Given the description of an element on the screen output the (x, y) to click on. 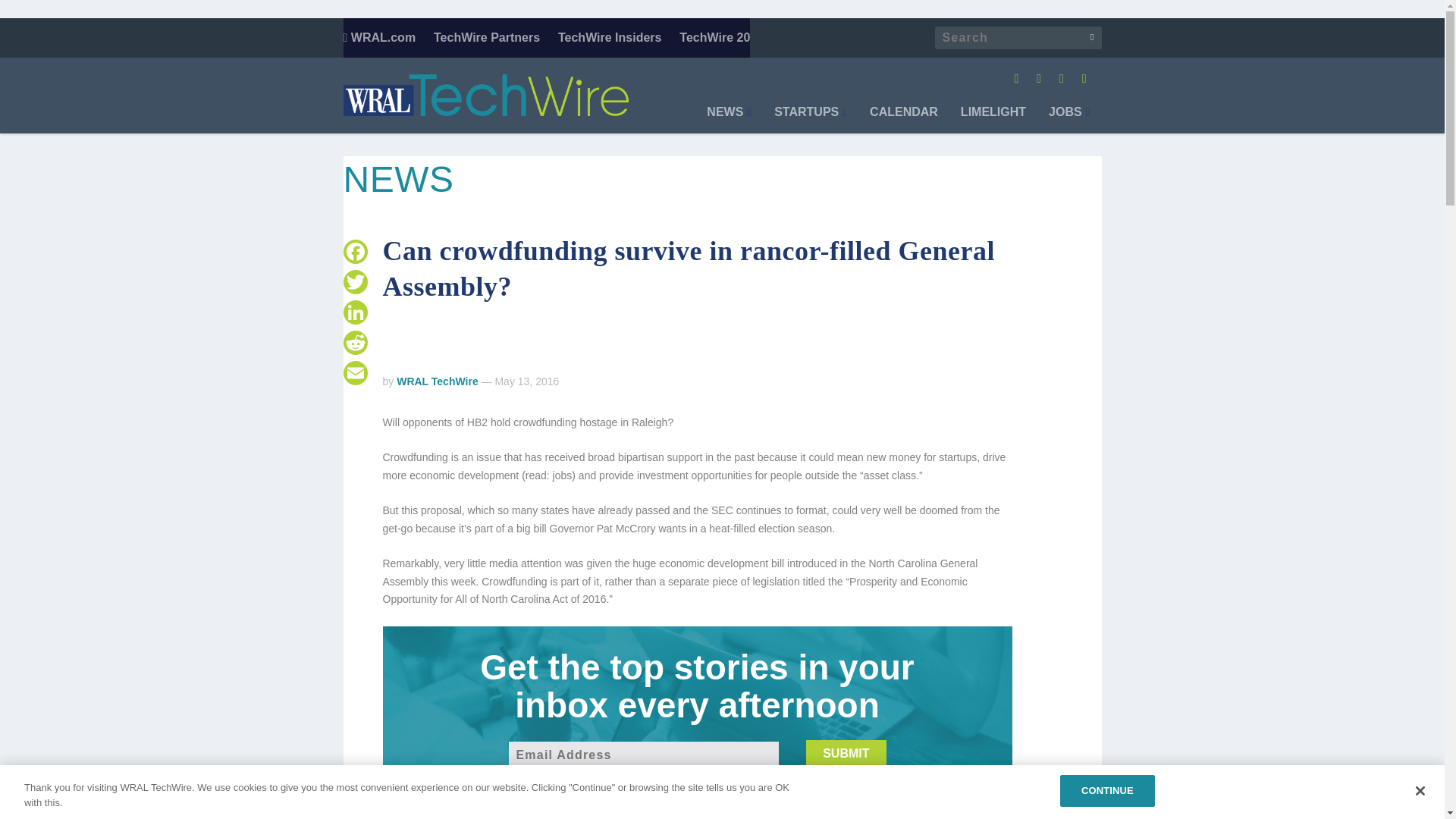
TechWire Partners (486, 37)
STARTUPS (810, 119)
Search for: (1017, 37)
JOBS (1068, 119)
WRAL.com (378, 37)
LinkedIn (354, 312)
Twitter (354, 281)
NEWS (728, 119)
TechWire 20 (714, 37)
Email (354, 372)
Facebook (354, 251)
TechWire Insiders (609, 37)
LIMELIGHT (993, 119)
CALENDAR (903, 119)
Reddit (354, 342)
